Given the description of an element on the screen output the (x, y) to click on. 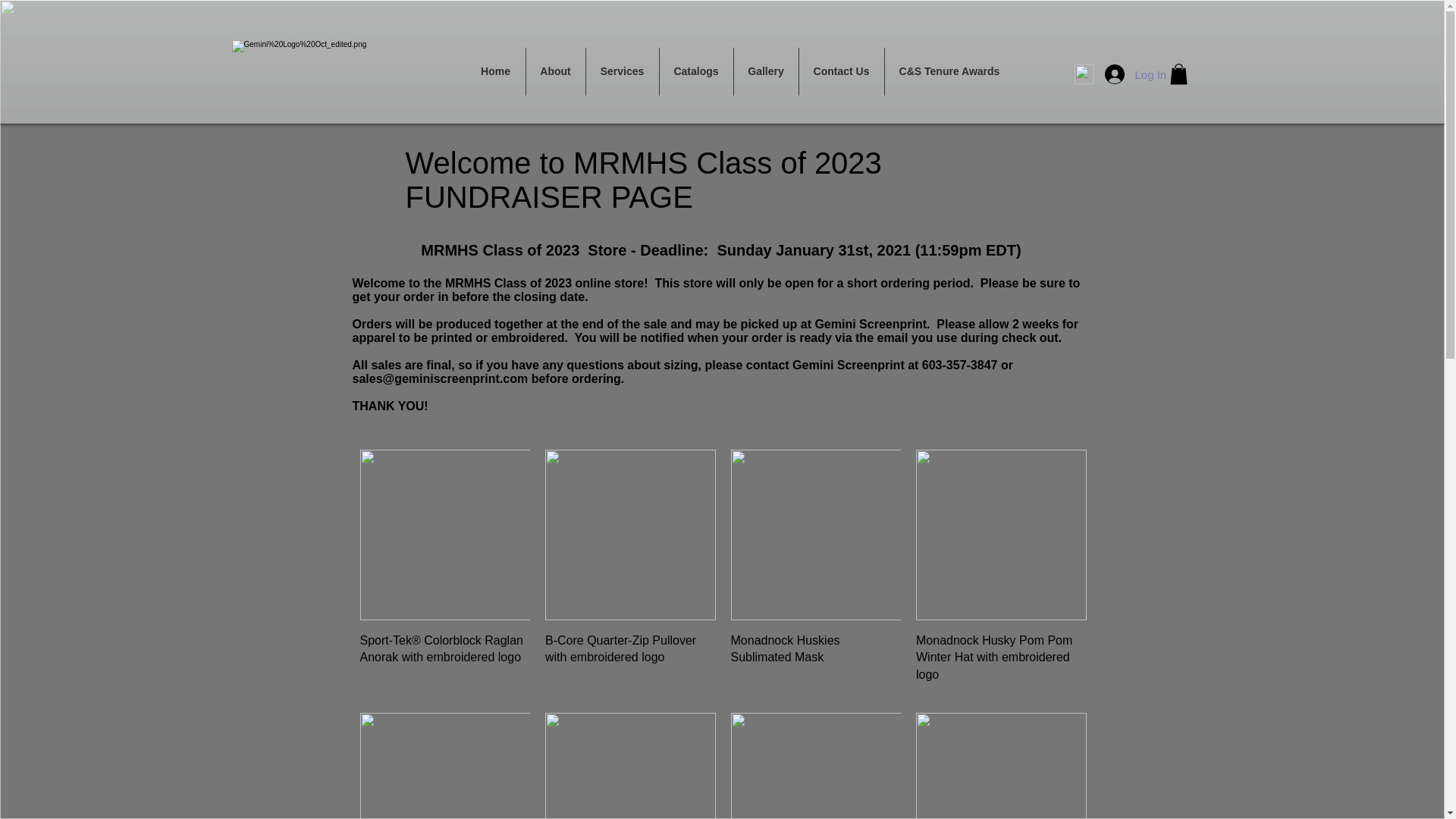
Contact Us (841, 71)
About (555, 71)
Gallery (765, 71)
Services (621, 71)
Log In (1124, 73)
Catalogs (696, 71)
Home (494, 71)
